Given the description of an element on the screen output the (x, y) to click on. 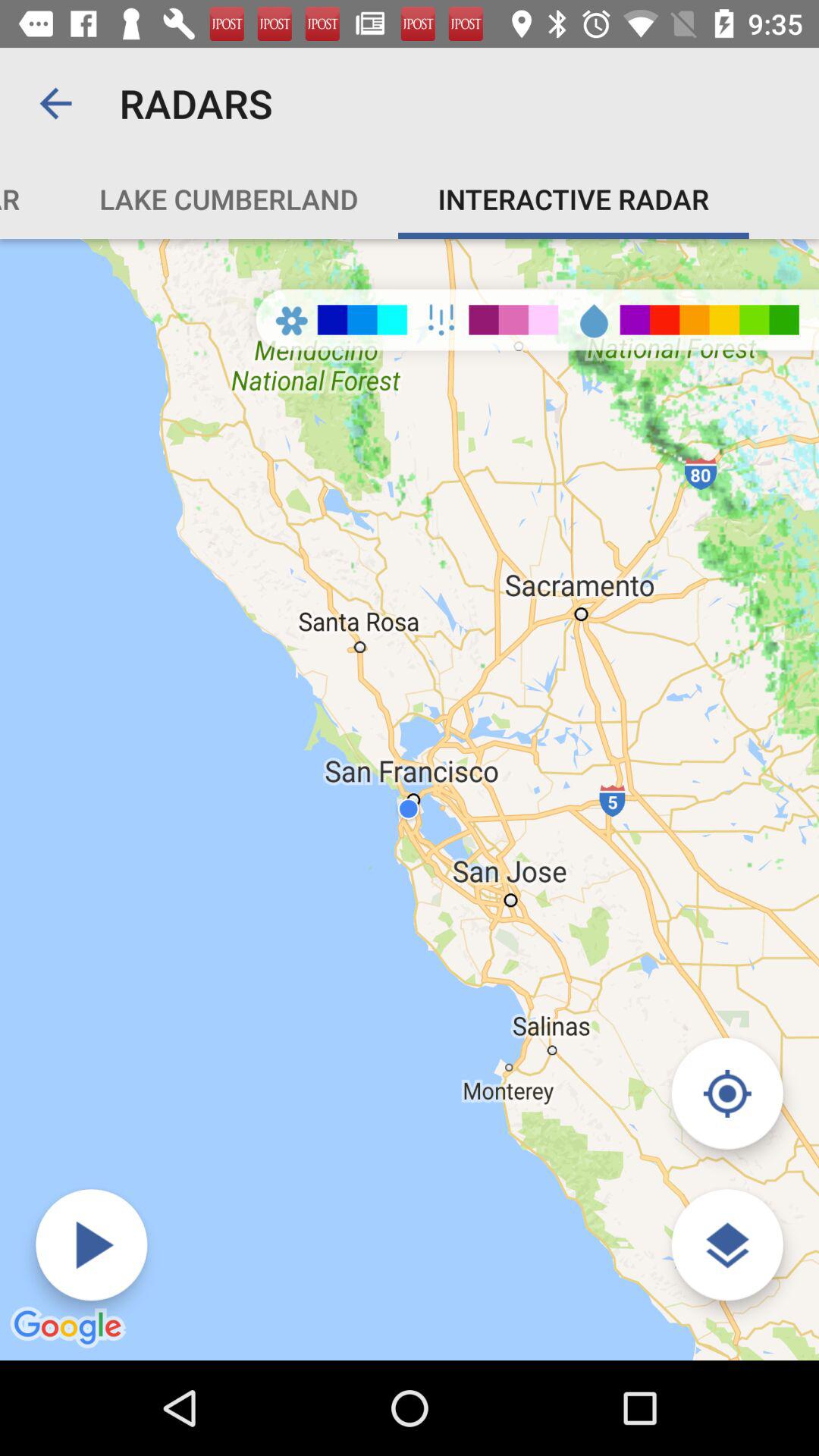
open item next to radars icon (55, 103)
